Given the description of an element on the screen output the (x, y) to click on. 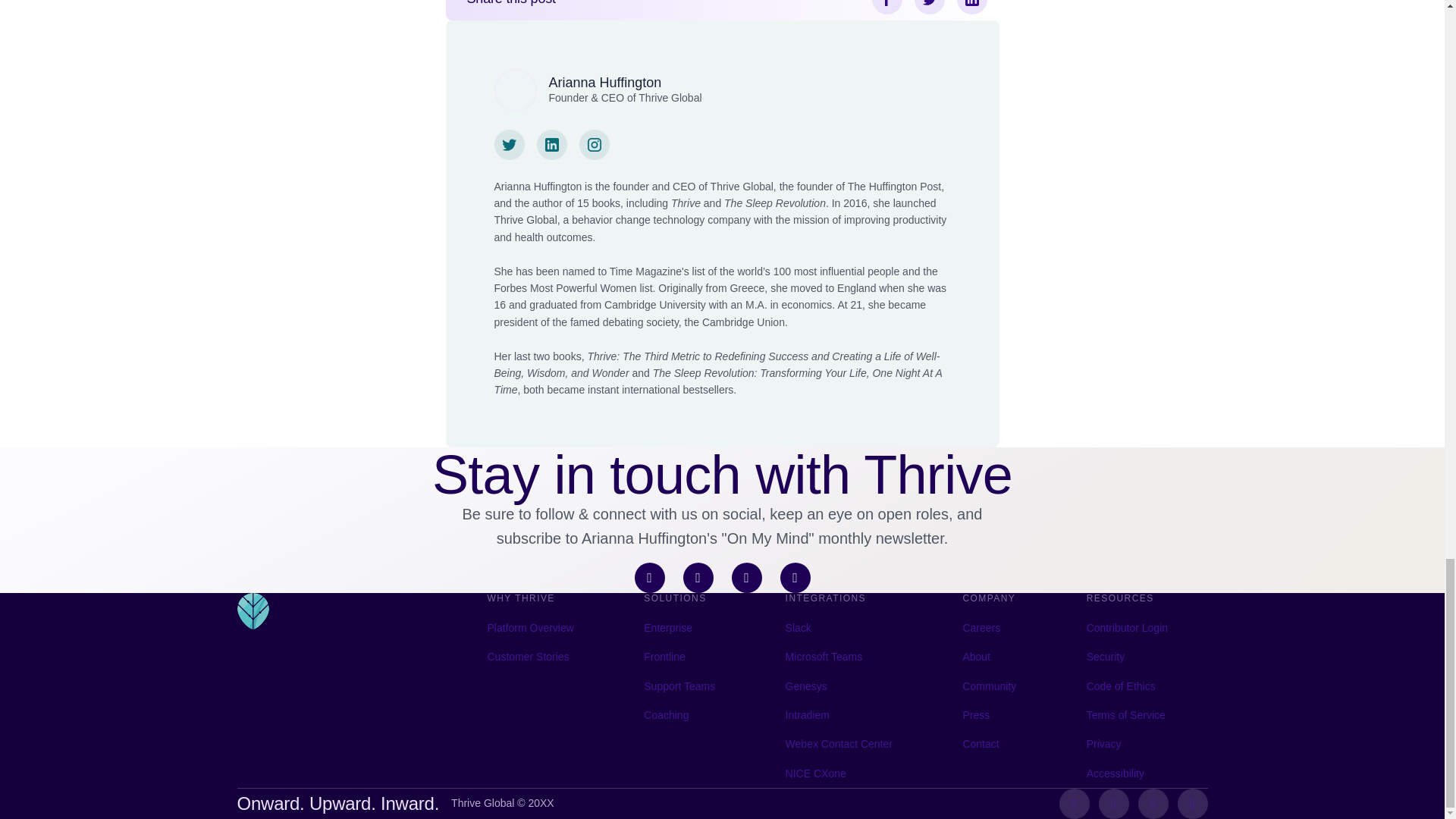
Share on Linkedin (971, 7)
Share on Twitter (929, 7)
Arianna Huffington (605, 82)
Share on Facebook (887, 7)
